Given the description of an element on the screen output the (x, y) to click on. 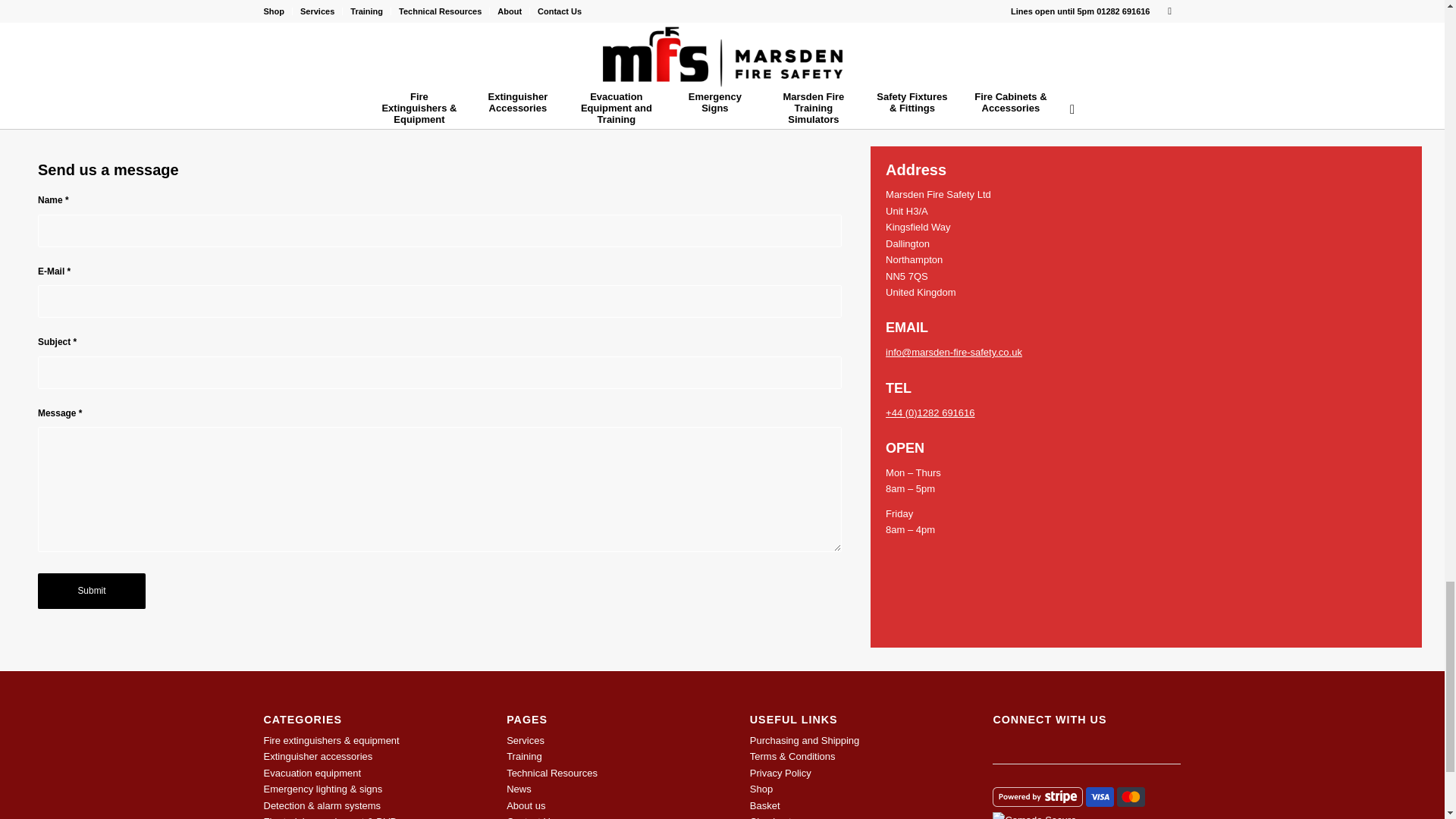
Submit (91, 591)
